Given the description of an element on the screen output the (x, y) to click on. 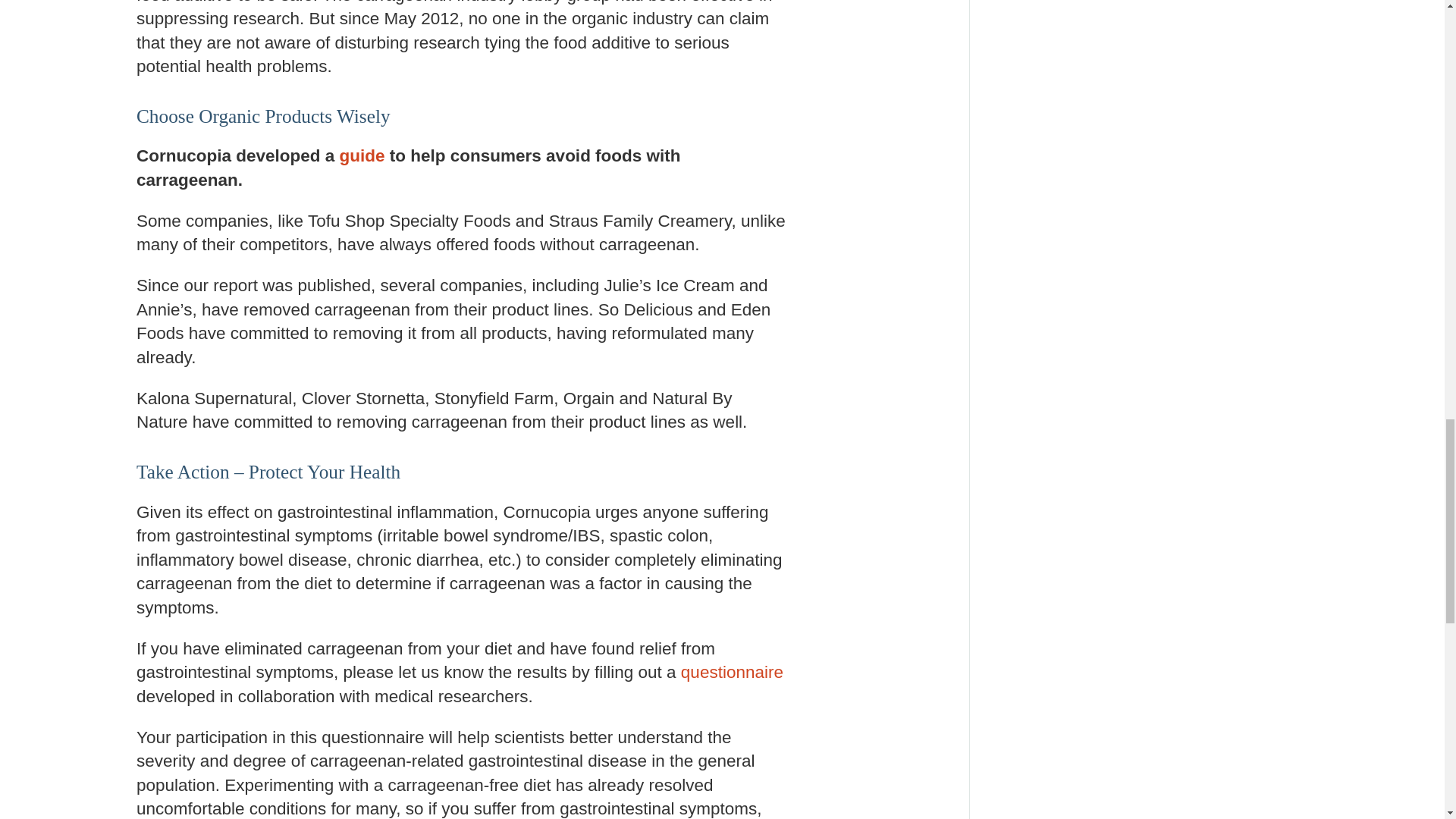
questionnaire (732, 671)
guide (362, 155)
